Given the description of an element on the screen output the (x, y) to click on. 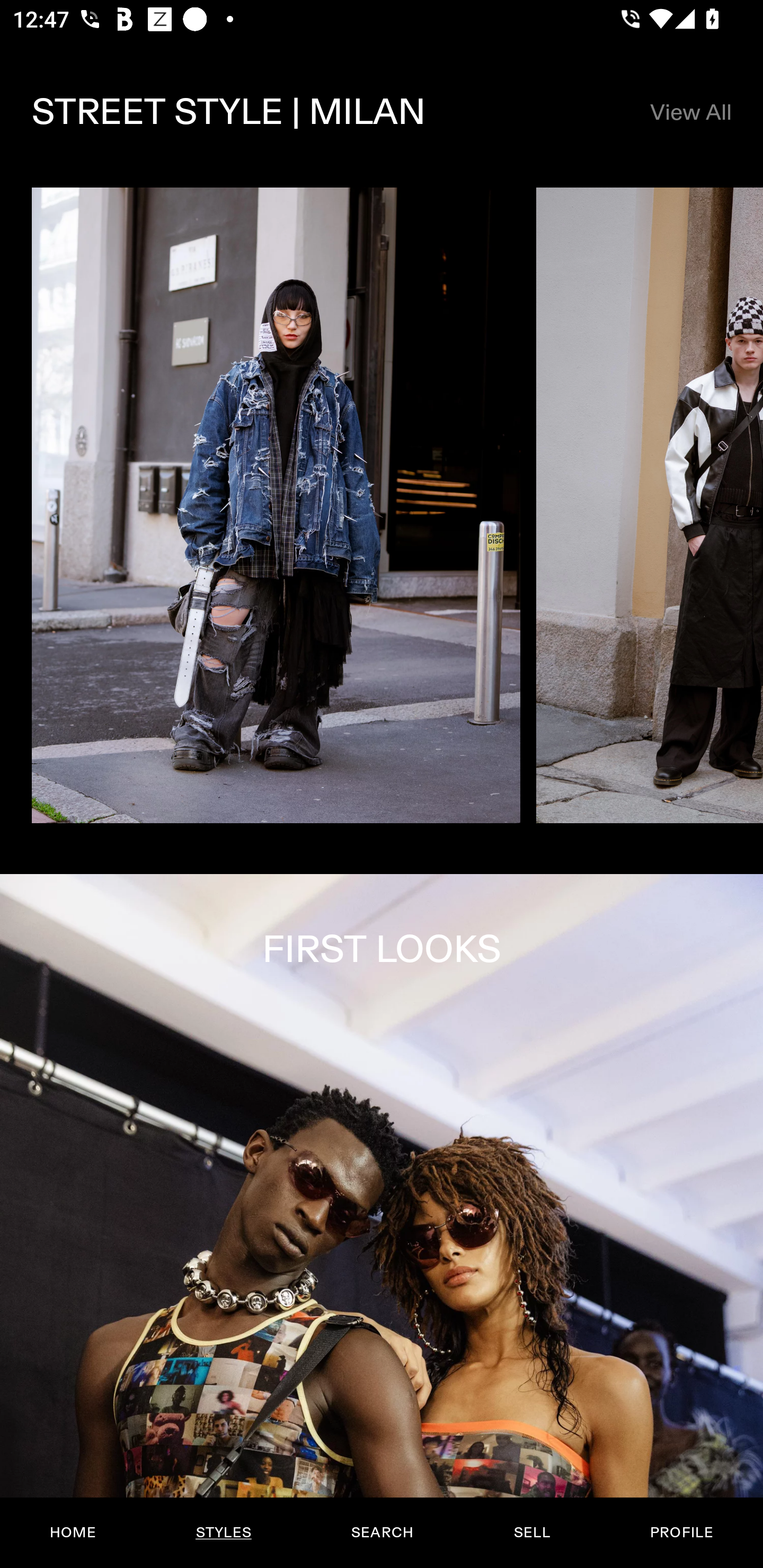
View All (690, 112)
FIRST LOOKS DIESEL FALL '24 (381, 1220)
HOME (72, 1532)
STYLES (222, 1532)
SEARCH (381, 1532)
SELL (531, 1532)
PROFILE (681, 1532)
